Given the description of an element on the screen output the (x, y) to click on. 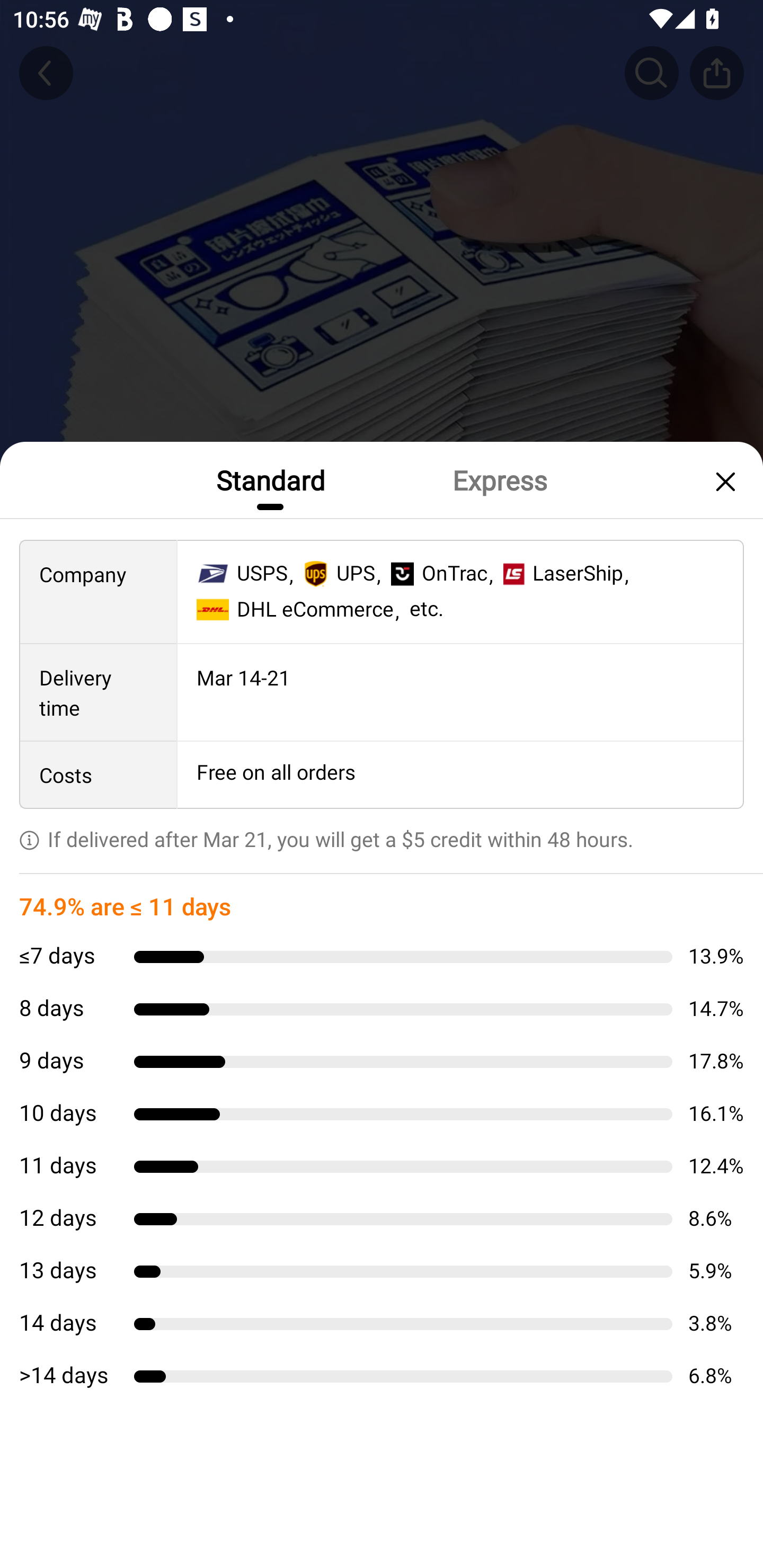
Standard (269, 479)
Express (499, 479)
close (723, 481)
Free shipping on all orders Exclusive offer (381, 836)
